Given the description of an element on the screen output the (x, y) to click on. 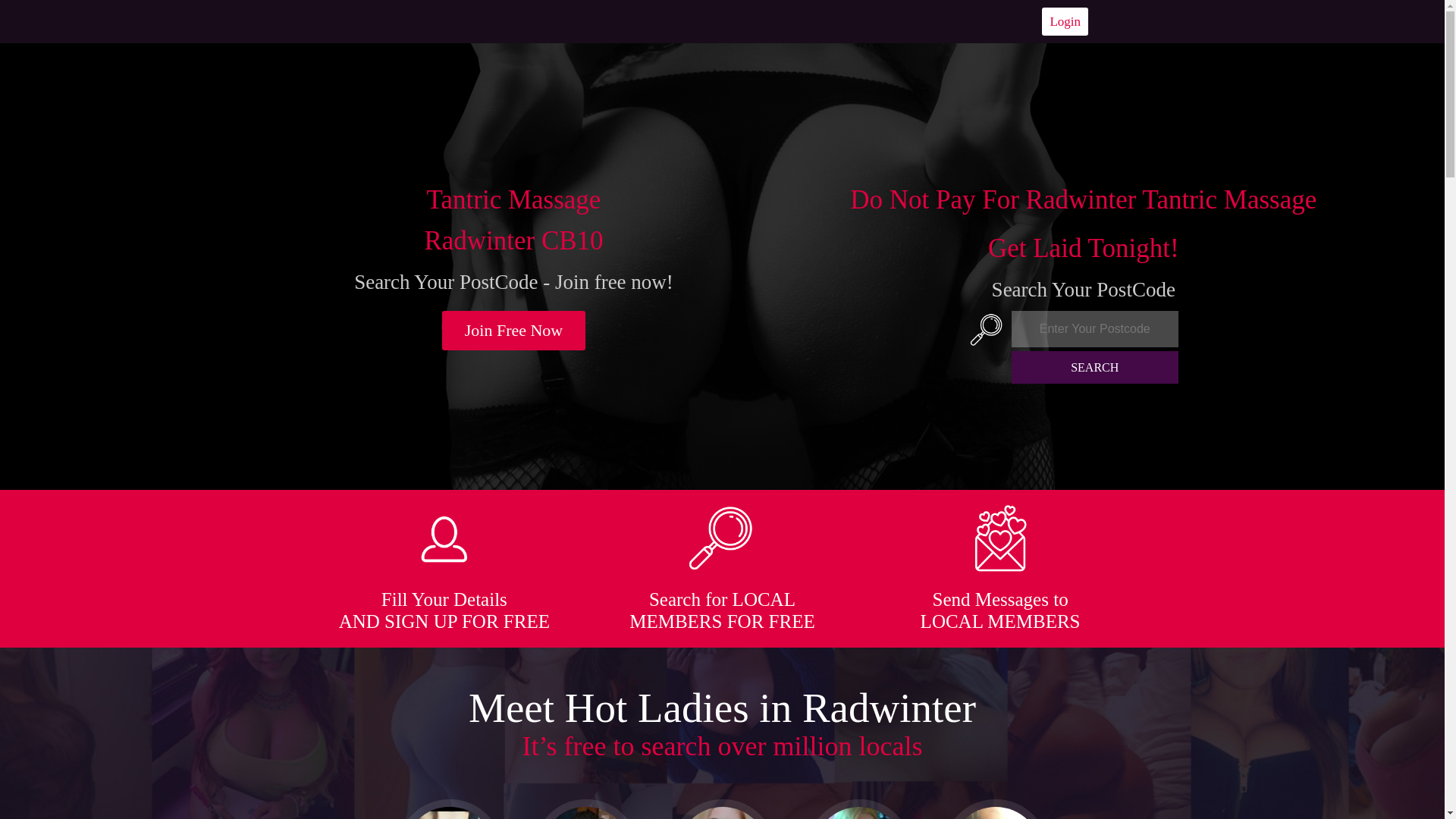
SEARCH (1094, 367)
Join Free Now (514, 330)
Login (1064, 21)
Join (514, 330)
Login (1064, 21)
